Given the description of an element on the screen output the (x, y) to click on. 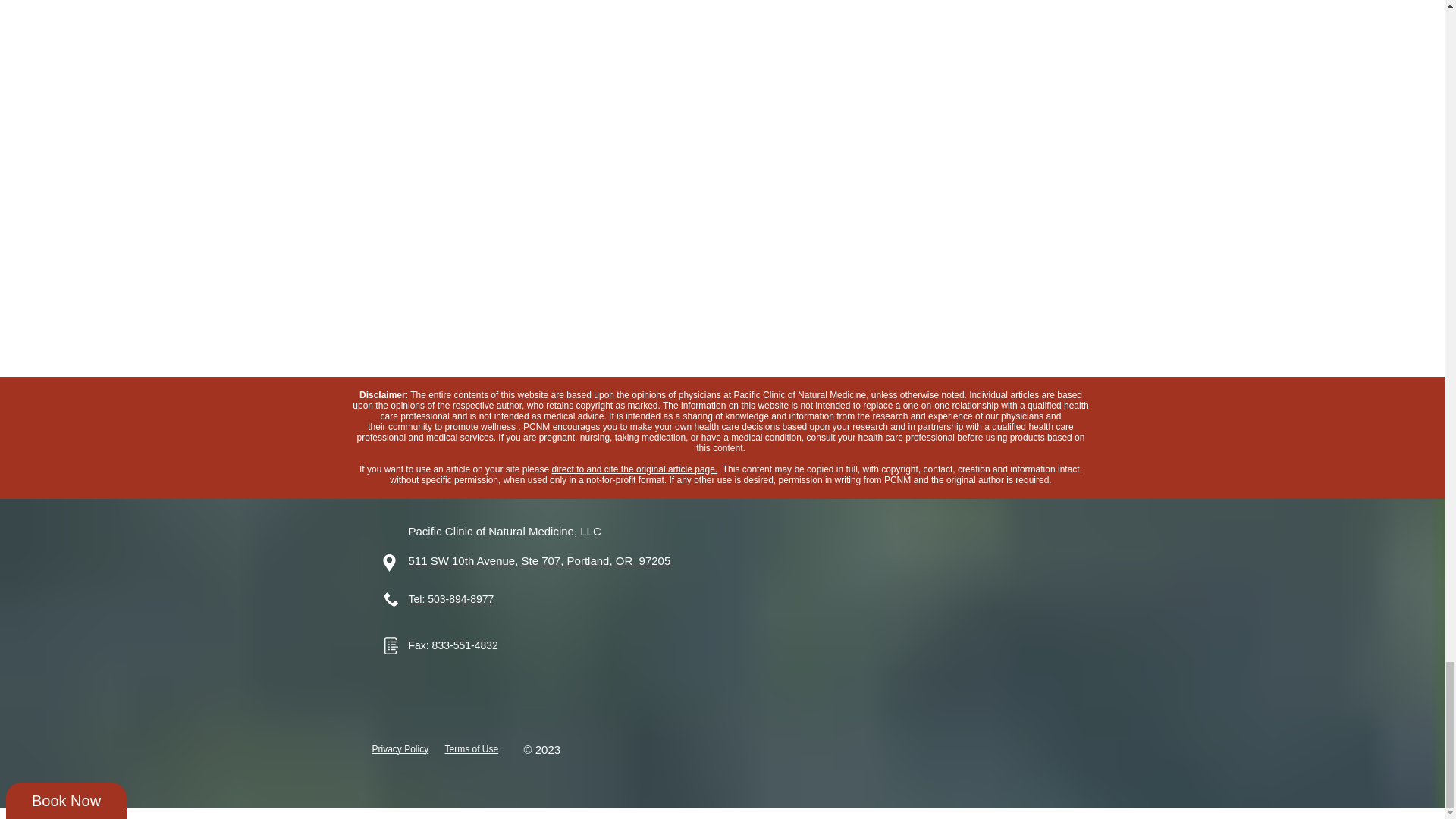
Google Maps (885, 633)
